Given the description of an element on the screen output the (x, y) to click on. 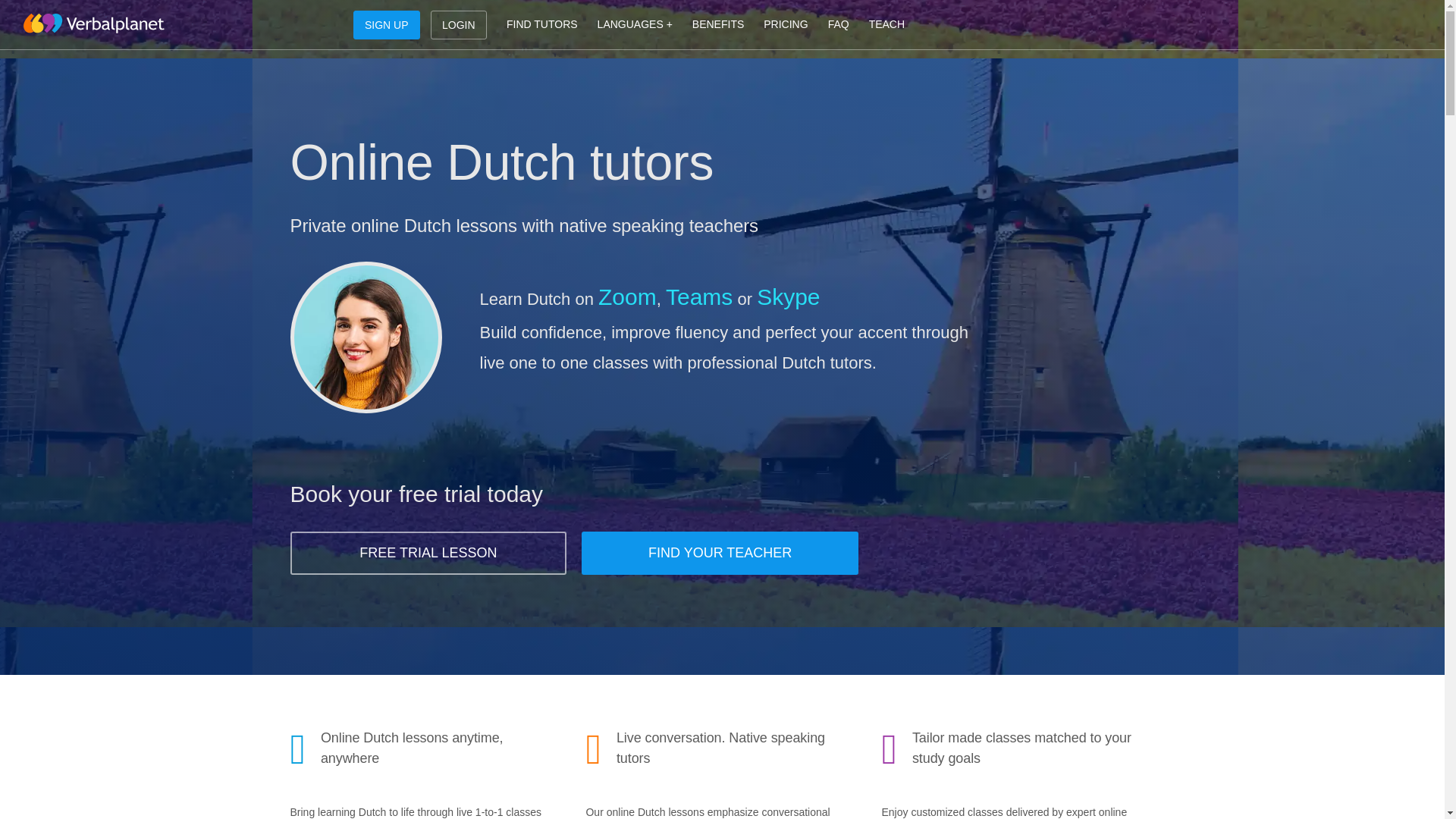
Home (93, 23)
LOGIN (458, 24)
SIGN UP (386, 24)
FIND TUTORS (542, 24)
